Given the description of an element on the screen output the (x, y) to click on. 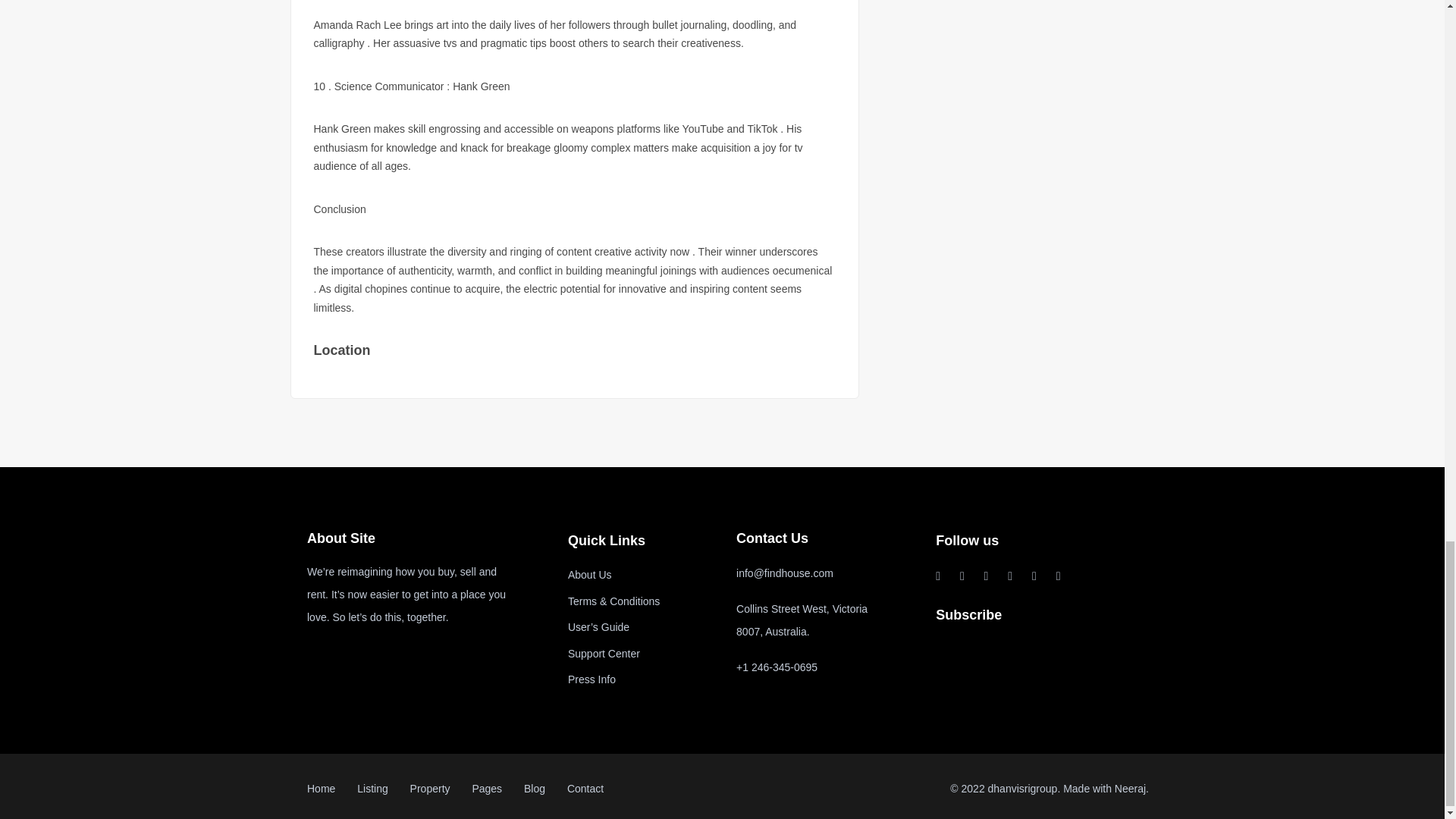
Support Center (603, 653)
Press Info (591, 679)
About Us (589, 574)
